Given the description of an element on the screen output the (x, y) to click on. 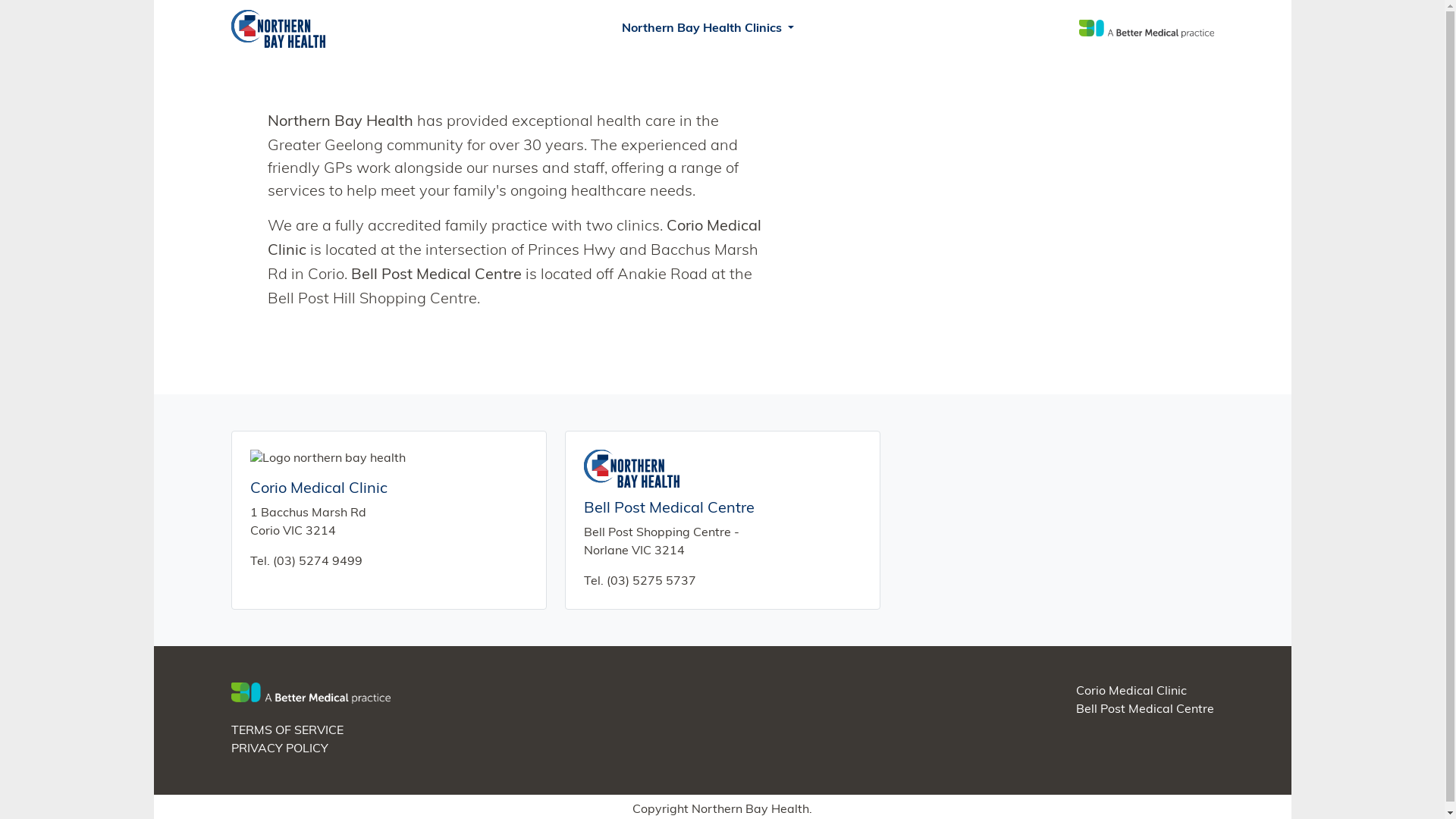
TERMS OF SERVICE Element type: text (286, 730)
Corio Medical Clinic Element type: text (1130, 691)
Bell Post Medical Centre Element type: text (668, 508)
Northern Bay Health Clinics Element type: text (707, 28)
PRIVACY POLICY Element type: text (278, 749)
Bell Post Medical Centre Element type: text (1144, 709)
Corio Medical Clinic Element type: text (318, 488)
